Given the description of an element on the screen output the (x, y) to click on. 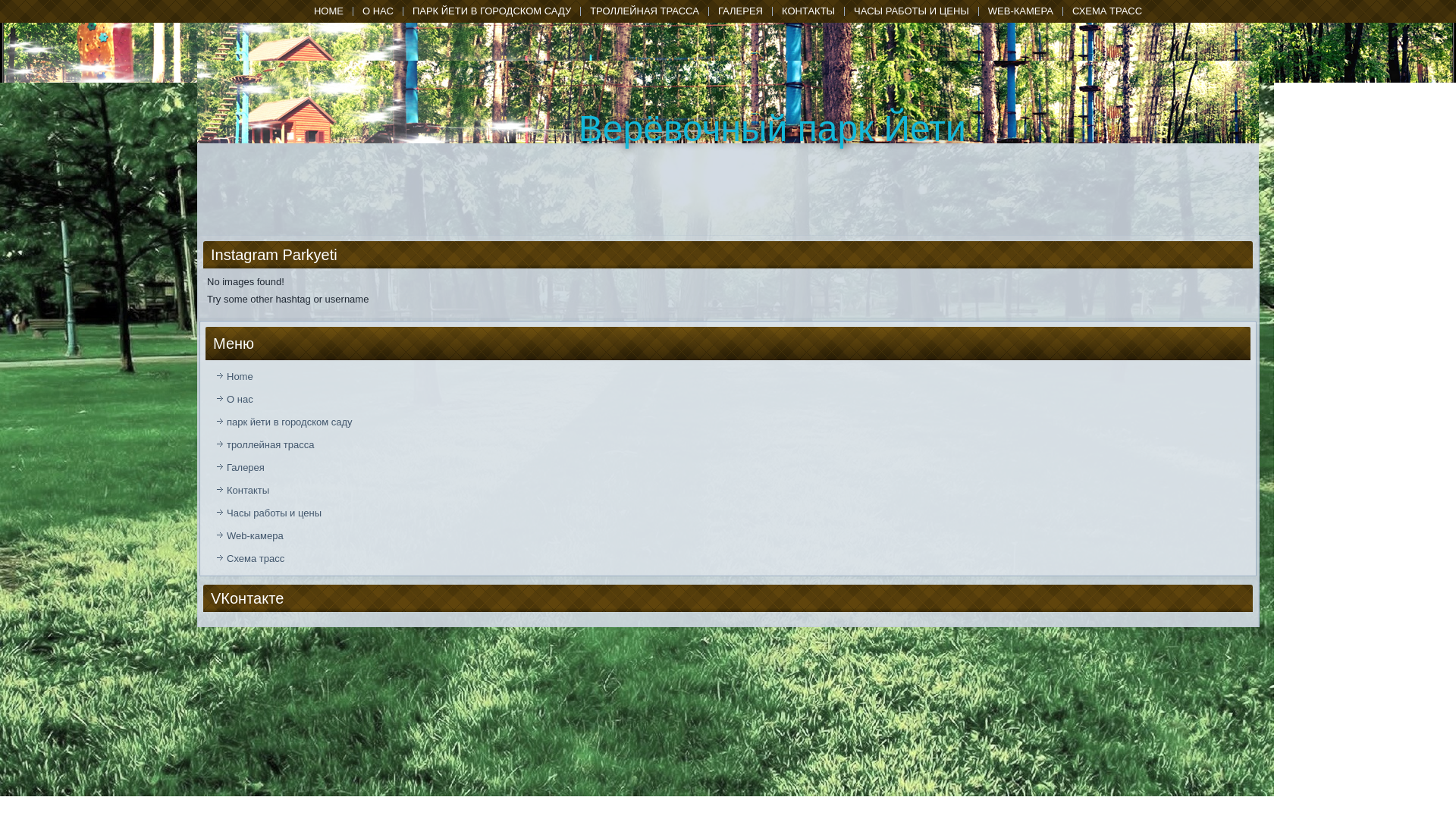
HOME (328, 11)
Home (727, 376)
Home (328, 11)
